Given the description of an element on the screen output the (x, y) to click on. 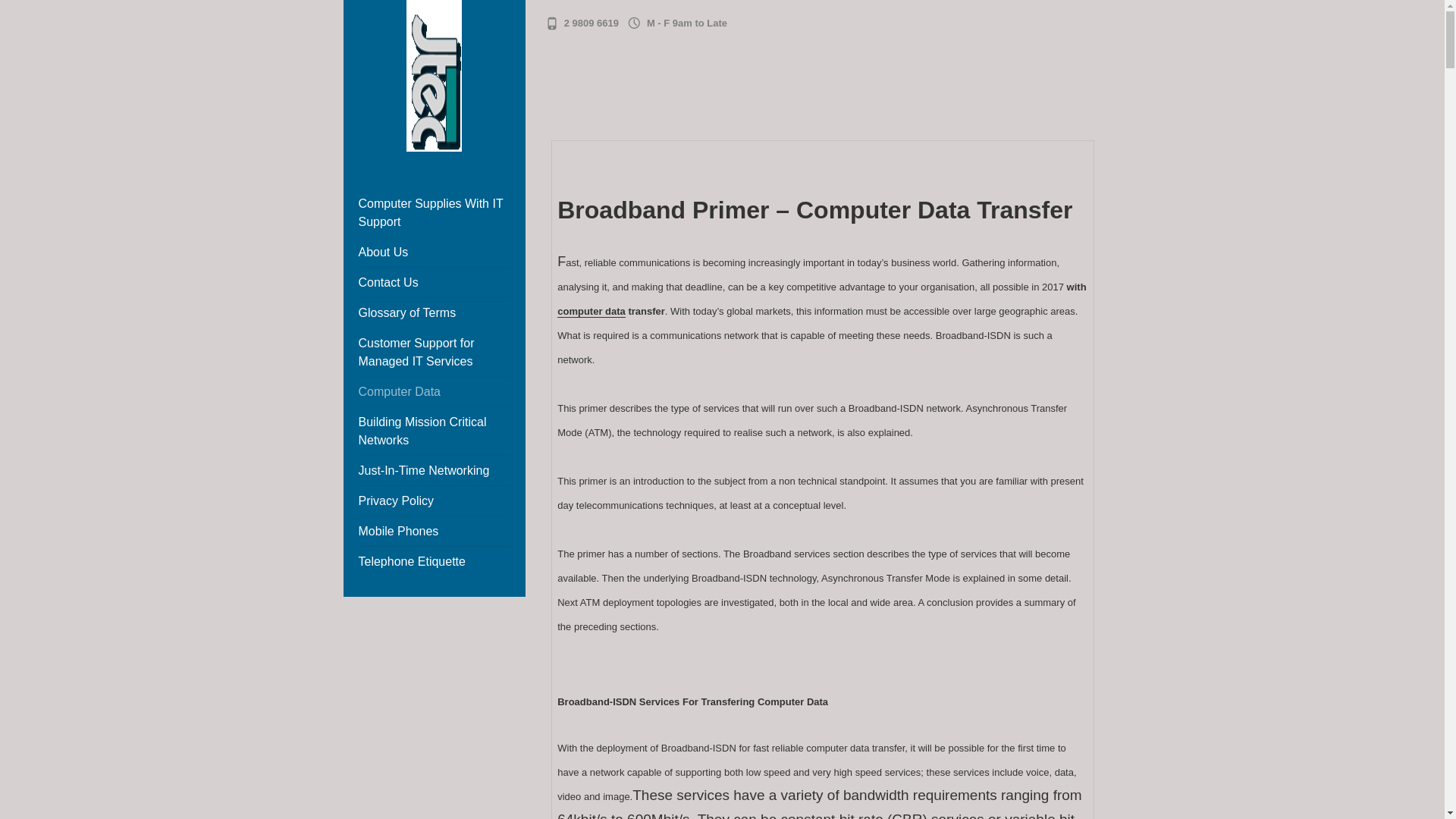
Customer Support for Managed IT Services (416, 351)
Mobile Phones (398, 530)
Just-In-Time Networking (423, 470)
genericon-phone (551, 23)
Glossary of Terms (406, 312)
computer data (591, 311)
Privacy Policy (395, 500)
Computer Data (399, 391)
jtec Pty Ltd (397, 182)
Telephone Etiquette (411, 561)
Building Mission Critical Networks (422, 430)
Contact Us (387, 282)
Computer Supplies With IT Support (430, 212)
About Us (382, 251)
